Given the description of an element on the screen output the (x, y) to click on. 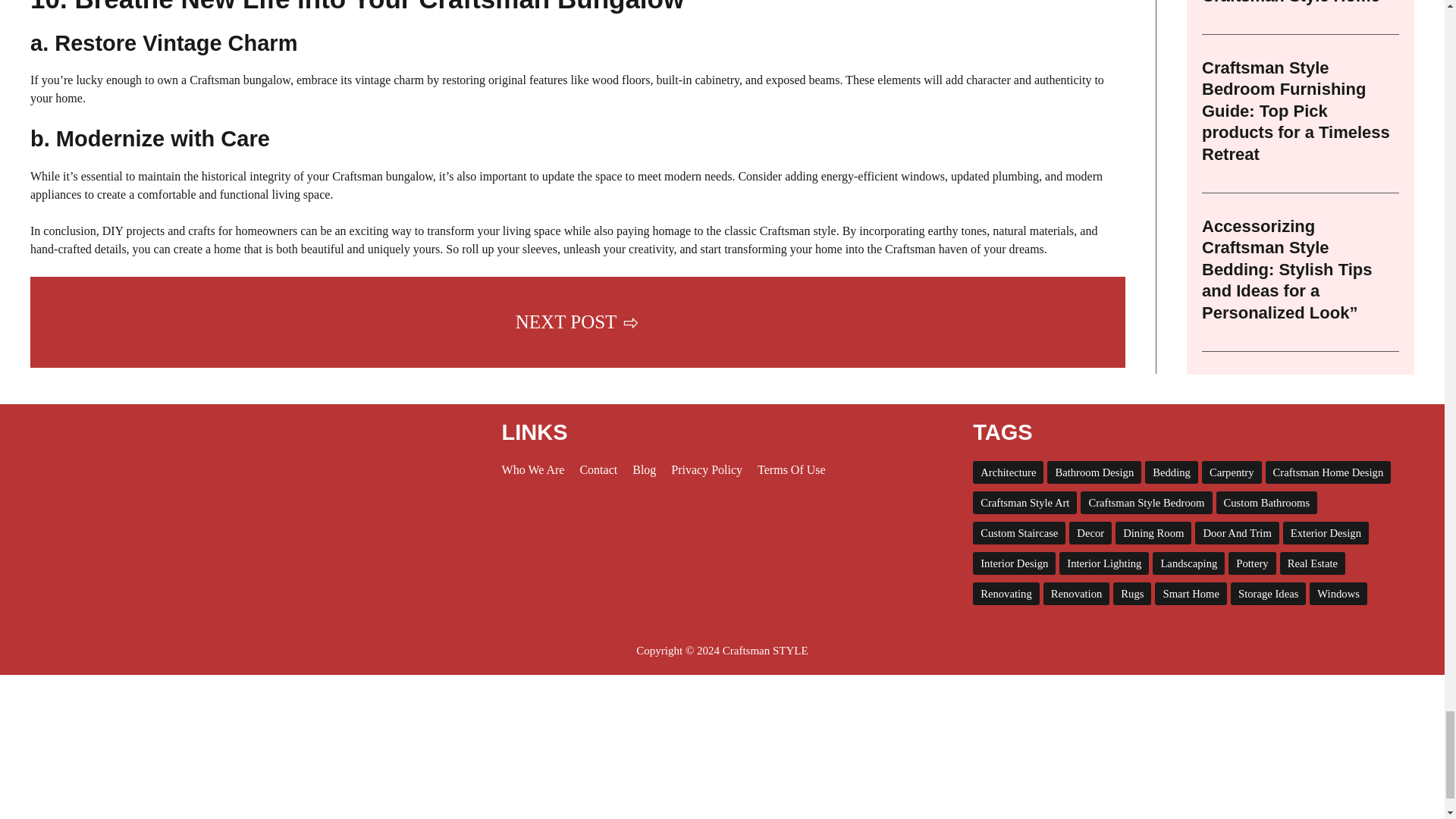
Exterior Design (1325, 532)
Blog (643, 469)
Interior Lighting (1103, 563)
Craftsman Style Art (1024, 502)
Architecture (1007, 472)
Landscaping (1188, 563)
Who We Are (533, 469)
Bedding (1171, 472)
Bathroom Design (1093, 472)
Interior Design (1013, 563)
Privacy Policy (706, 469)
Craftsman Home Design (1328, 472)
Storage Ideas (1268, 593)
Real Estate (1312, 563)
Dining Room (1153, 532)
